Given the description of an element on the screen output the (x, y) to click on. 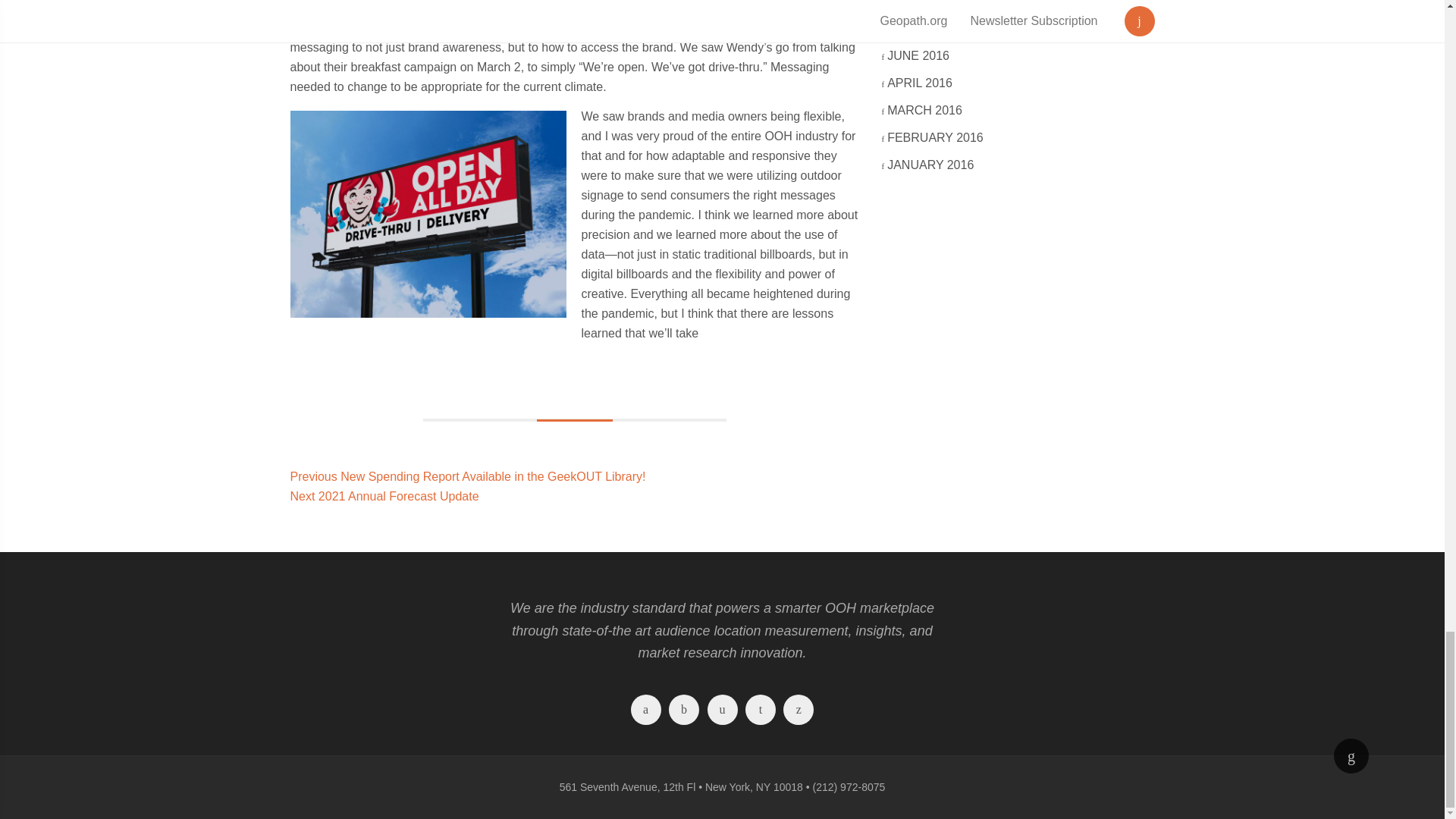
Instagram (721, 711)
To top (1350, 755)
Youtube (759, 711)
Facebook (645, 711)
Twitter (683, 711)
Linkedin (797, 711)
